Given the description of an element on the screen output the (x, y) to click on. 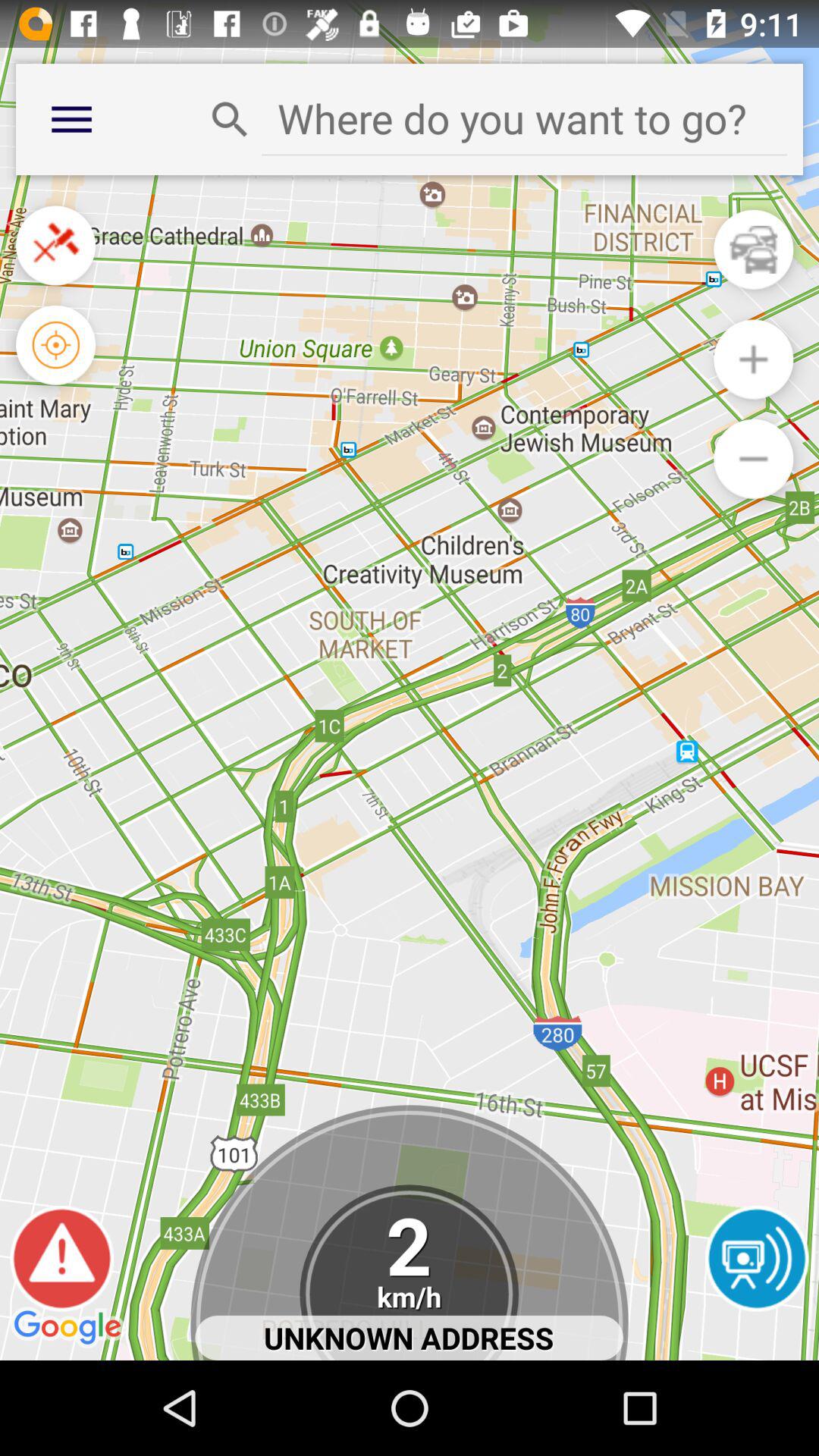
change speed setting (408, 1272)
